Given the description of an element on the screen output the (x, y) to click on. 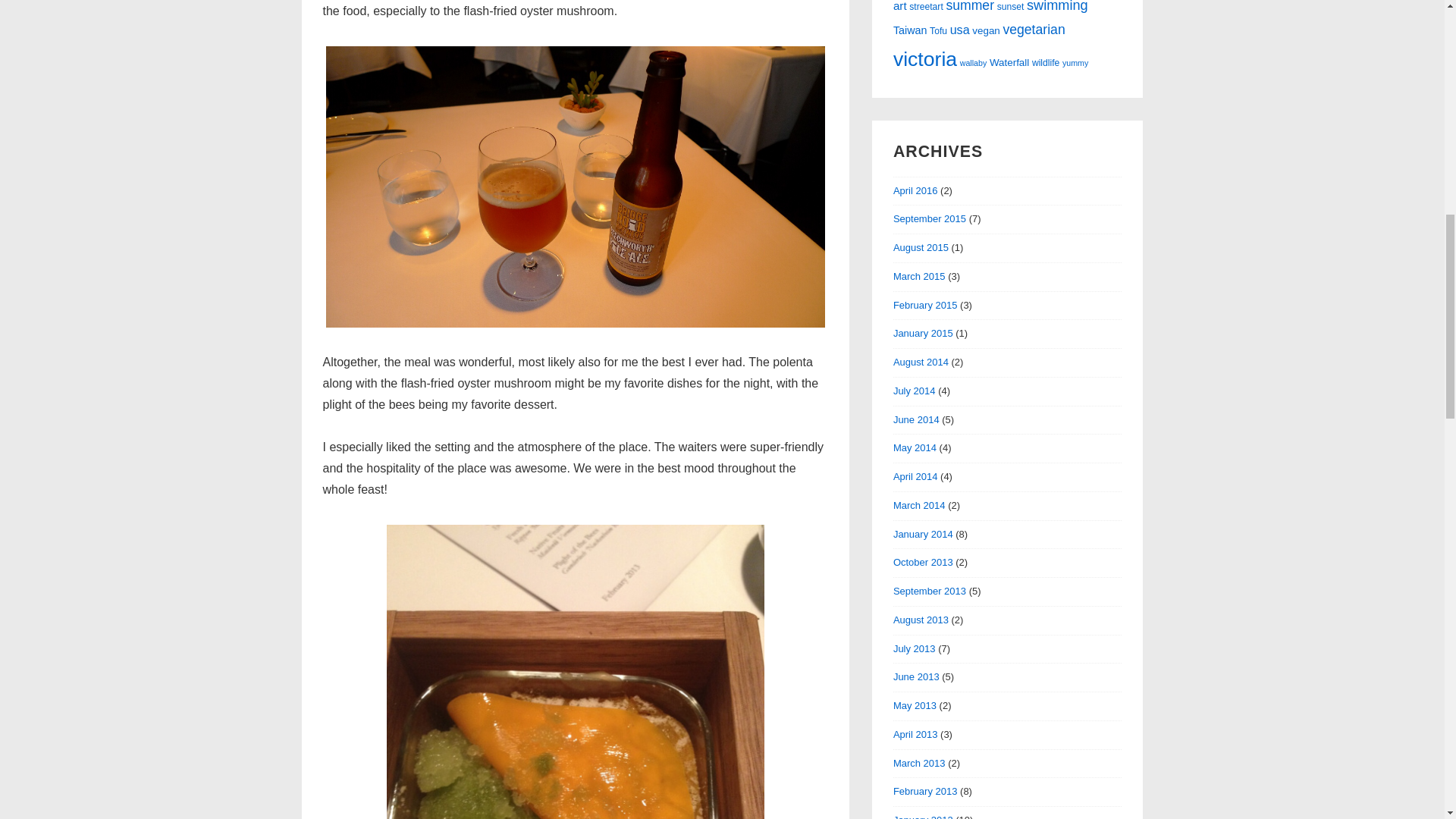
Opened plight of the bees (575, 670)
